Given the description of an element on the screen output the (x, y) to click on. 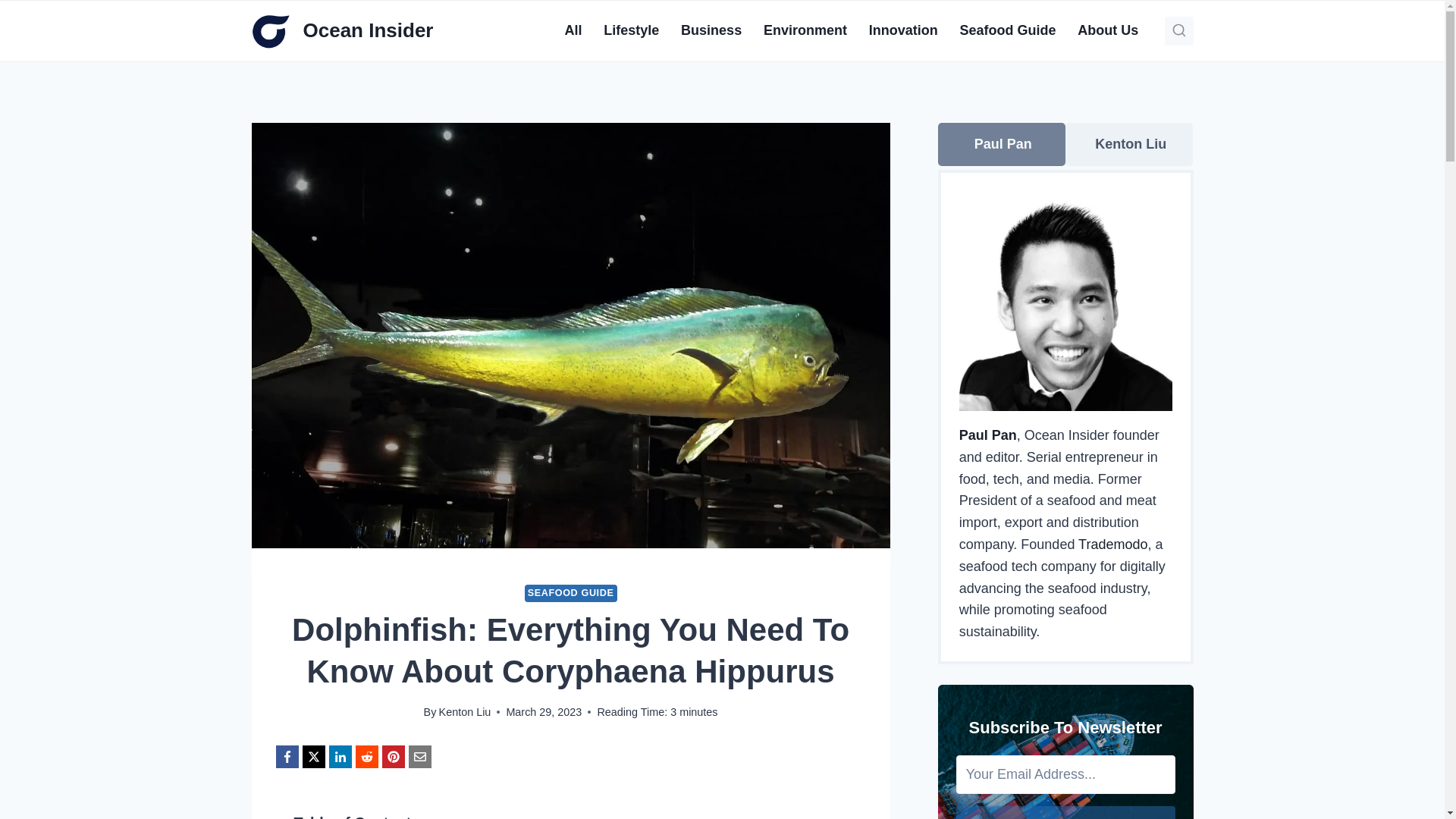
Kenton Liu (465, 711)
All (572, 30)
SEAFOOD GUIDE (570, 592)
Seafood Guide (1008, 30)
About Us (1108, 30)
Lifestyle (630, 30)
Ocean Insider (342, 30)
Environment (805, 30)
Business (710, 30)
Innovation (903, 30)
